Given the description of an element on the screen output the (x, y) to click on. 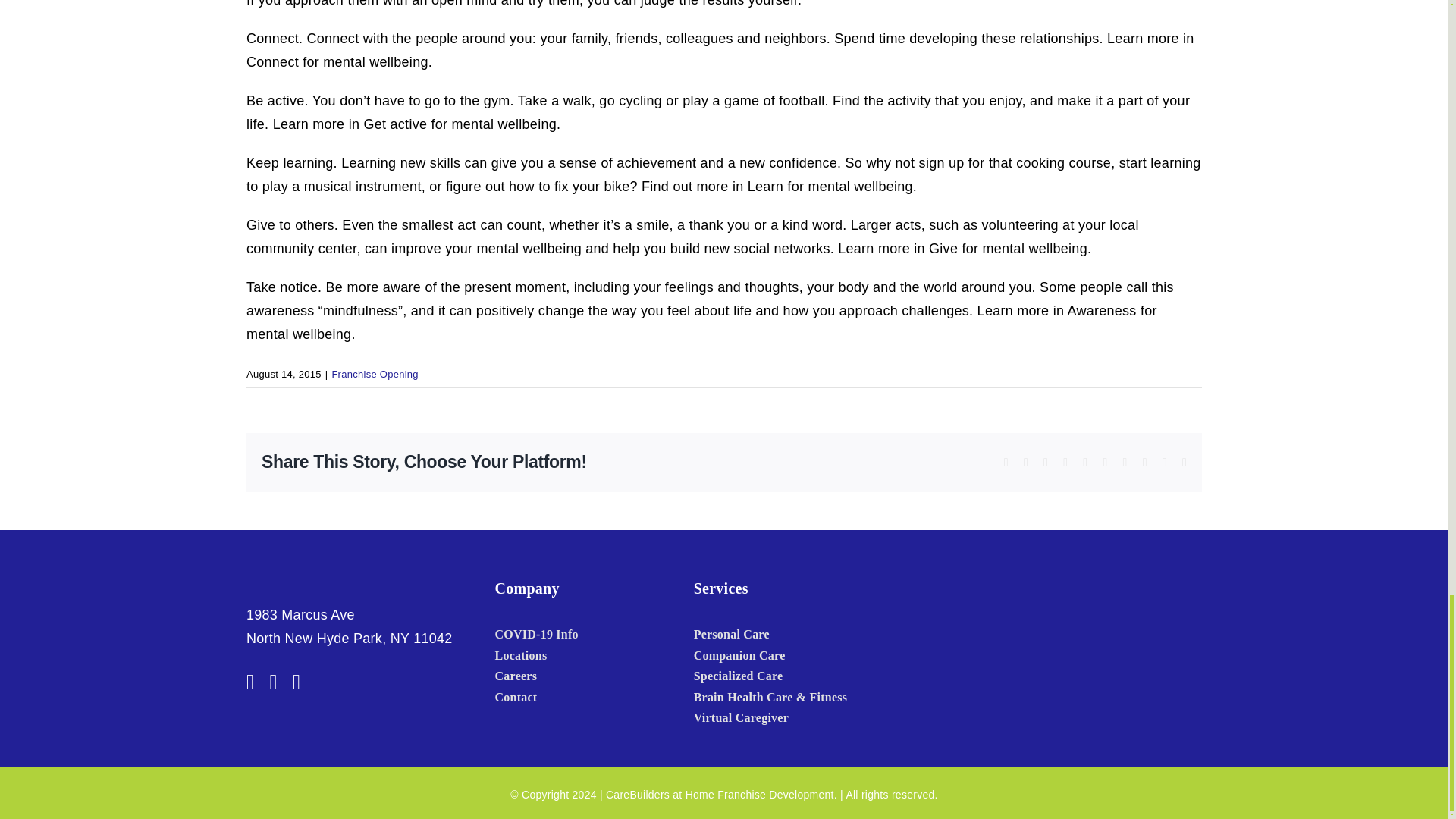
Facebook (250, 681)
Email (1184, 462)
Pinterest (1124, 462)
Email (1184, 462)
Facebook (1006, 462)
Pinterest (1124, 462)
Vk (1144, 462)
Facebook (1006, 462)
LinkedIn (1064, 462)
Tumblr (1104, 462)
WhatsApp (1085, 462)
Xing (1164, 462)
X (1025, 462)
WhatsApp (1085, 462)
X (1025, 462)
